Given the description of an element on the screen output the (x, y) to click on. 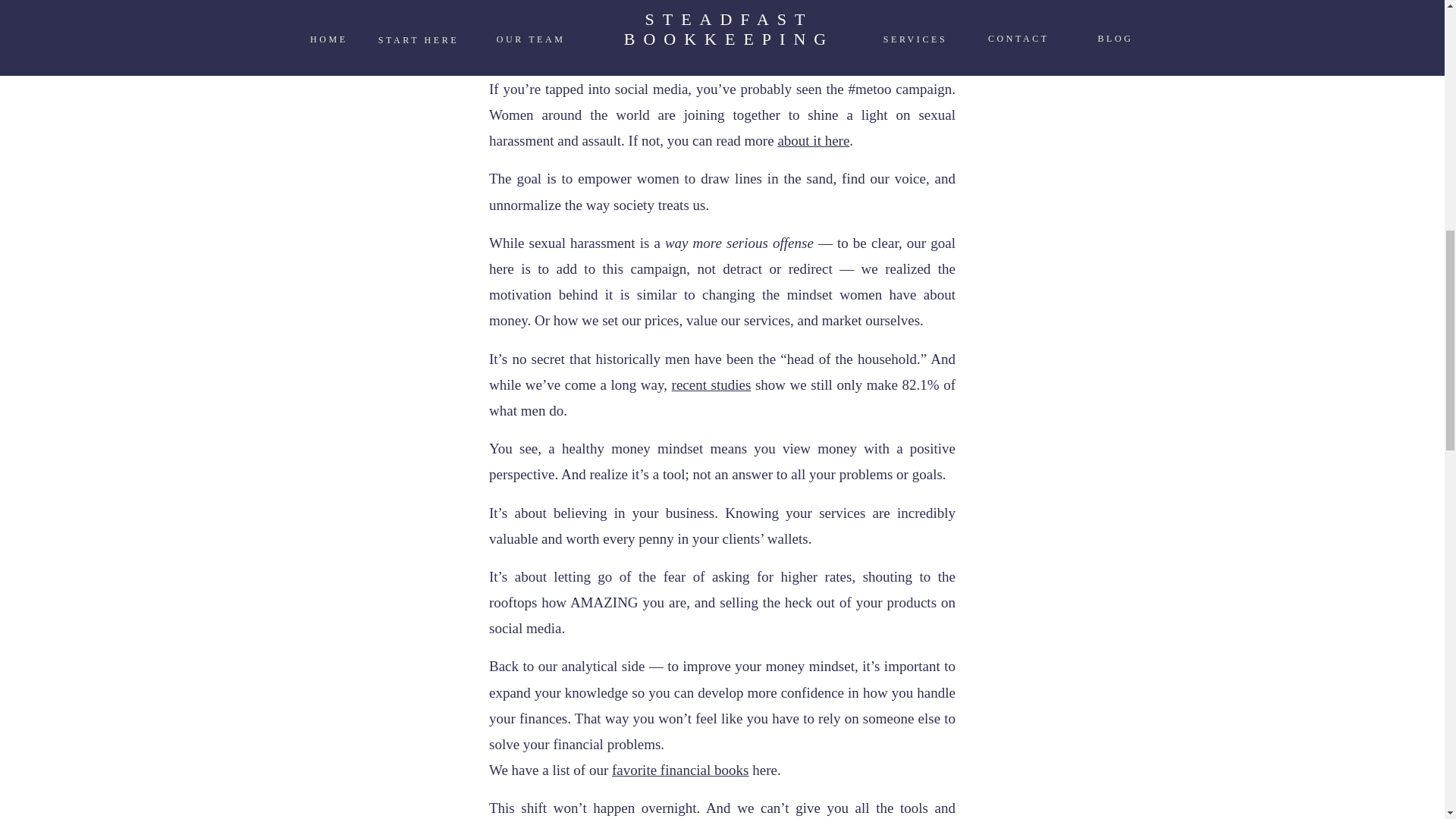
recent events (650, 3)
recent studies (711, 384)
favorite financial books (679, 770)
about it here (812, 140)
